Given the description of an element on the screen output the (x, y) to click on. 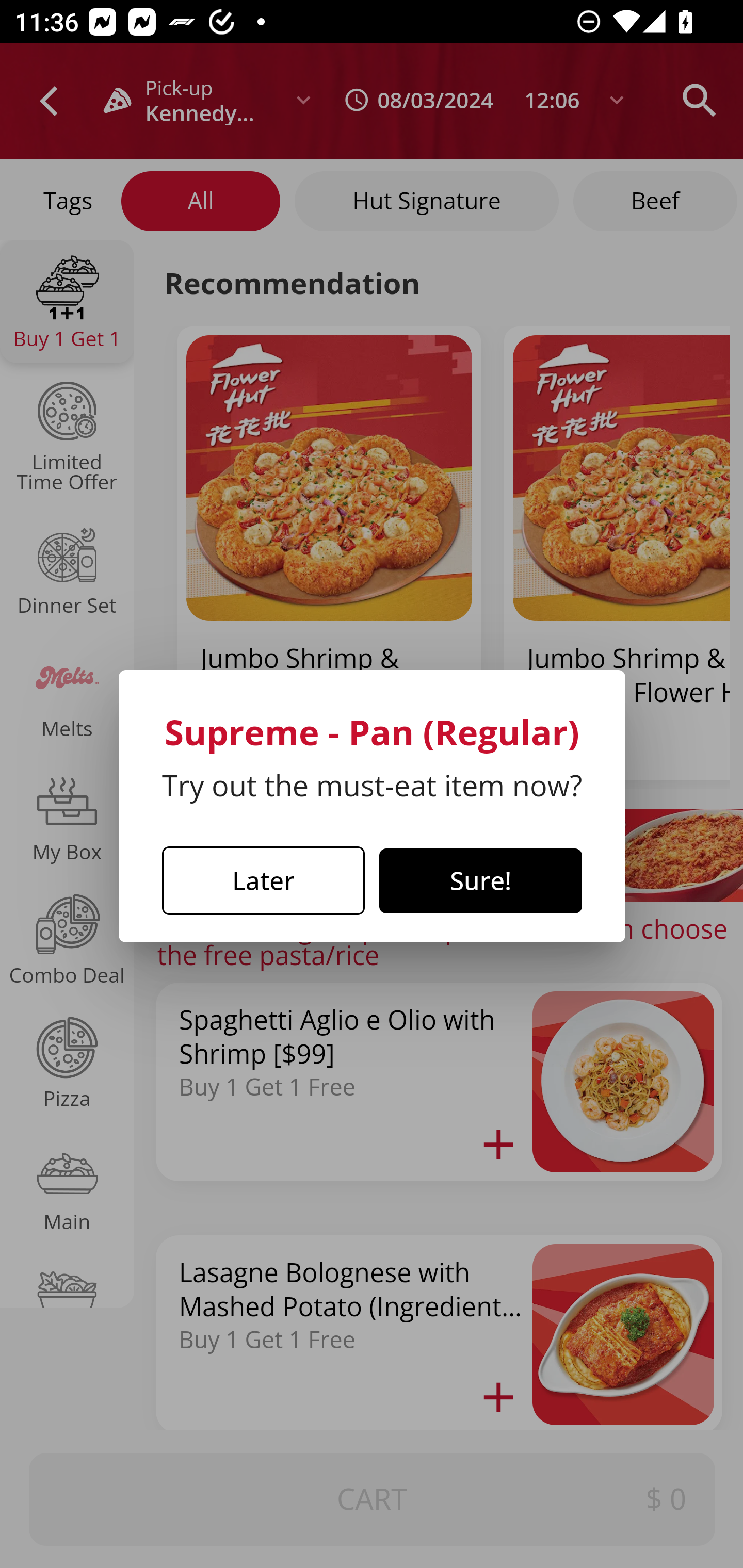
Later (263, 881)
Sure! (480, 880)
